Given the description of an element on the screen output the (x, y) to click on. 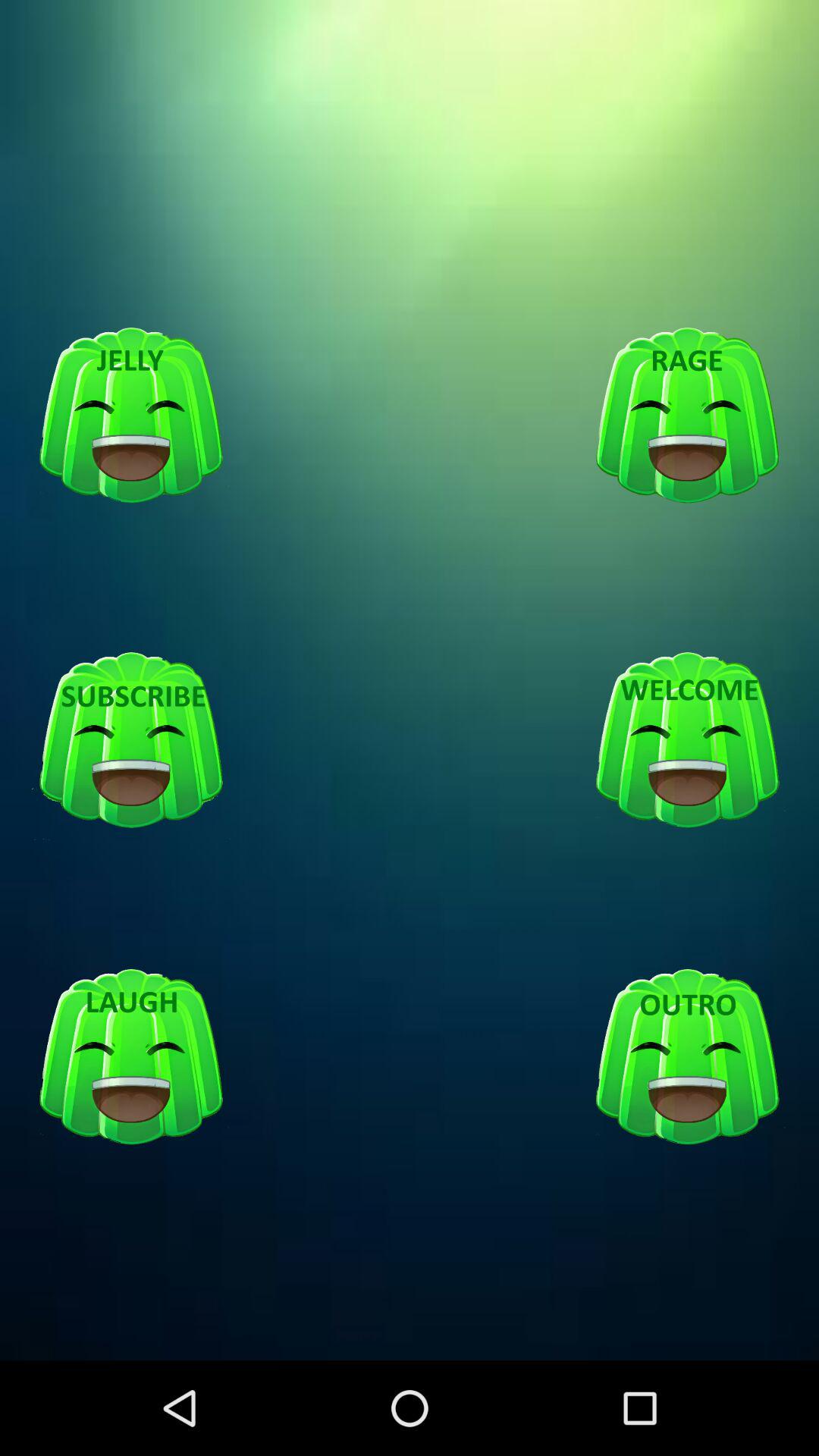
launch the icon at the bottom right corner (687, 1057)
